Given the description of an element on the screen output the (x, y) to click on. 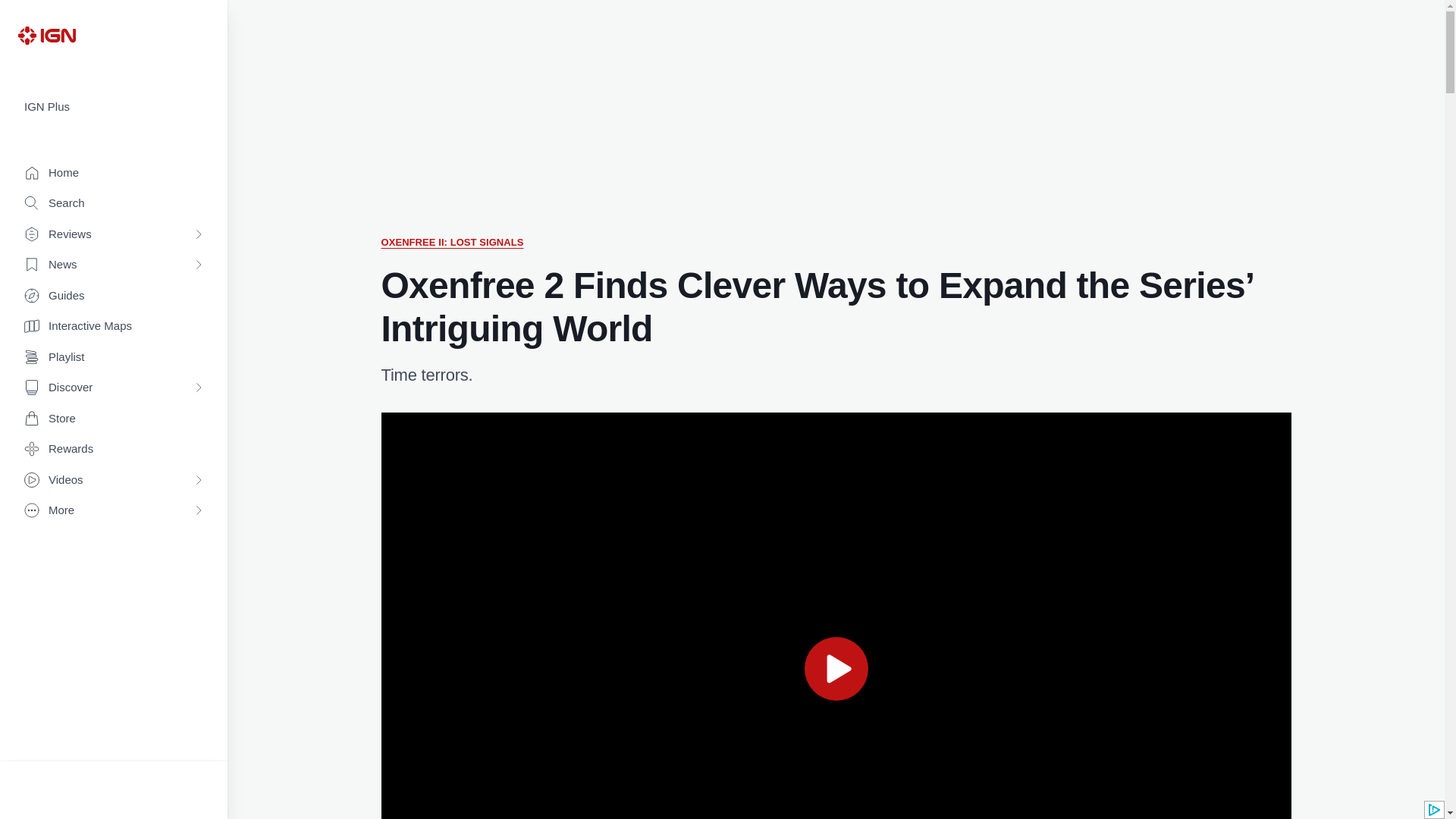
Reviews (113, 234)
News (113, 265)
IGN Plus (113, 107)
Interactive Maps (113, 326)
IGN Plus (113, 107)
Rewards (113, 449)
Playlist (113, 357)
Playlist (113, 357)
More (113, 510)
Store (113, 418)
